Given the description of an element on the screen output the (x, y) to click on. 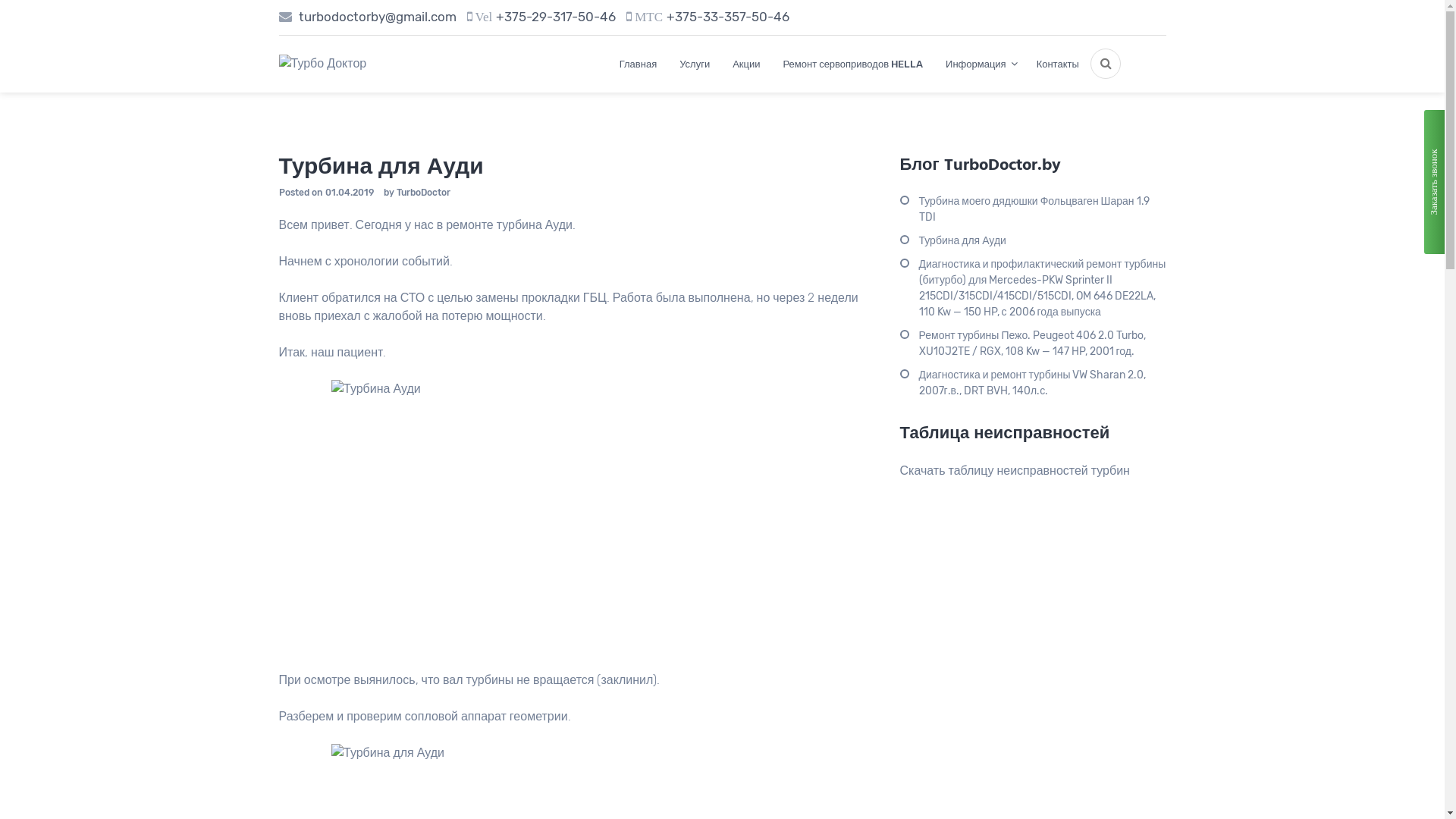
+375-33-357-50-46 Element type: text (727, 16)
+375-29-317-50-46 Element type: text (555, 16)
Skip to content Element type: text (0, 0)
01.04.2019 Element type: text (348, 192)
TurboDoctor Element type: text (422, 192)
turbodoctorby@gmail.com Element type: text (375, 16)
